Given the description of an element on the screen output the (x, y) to click on. 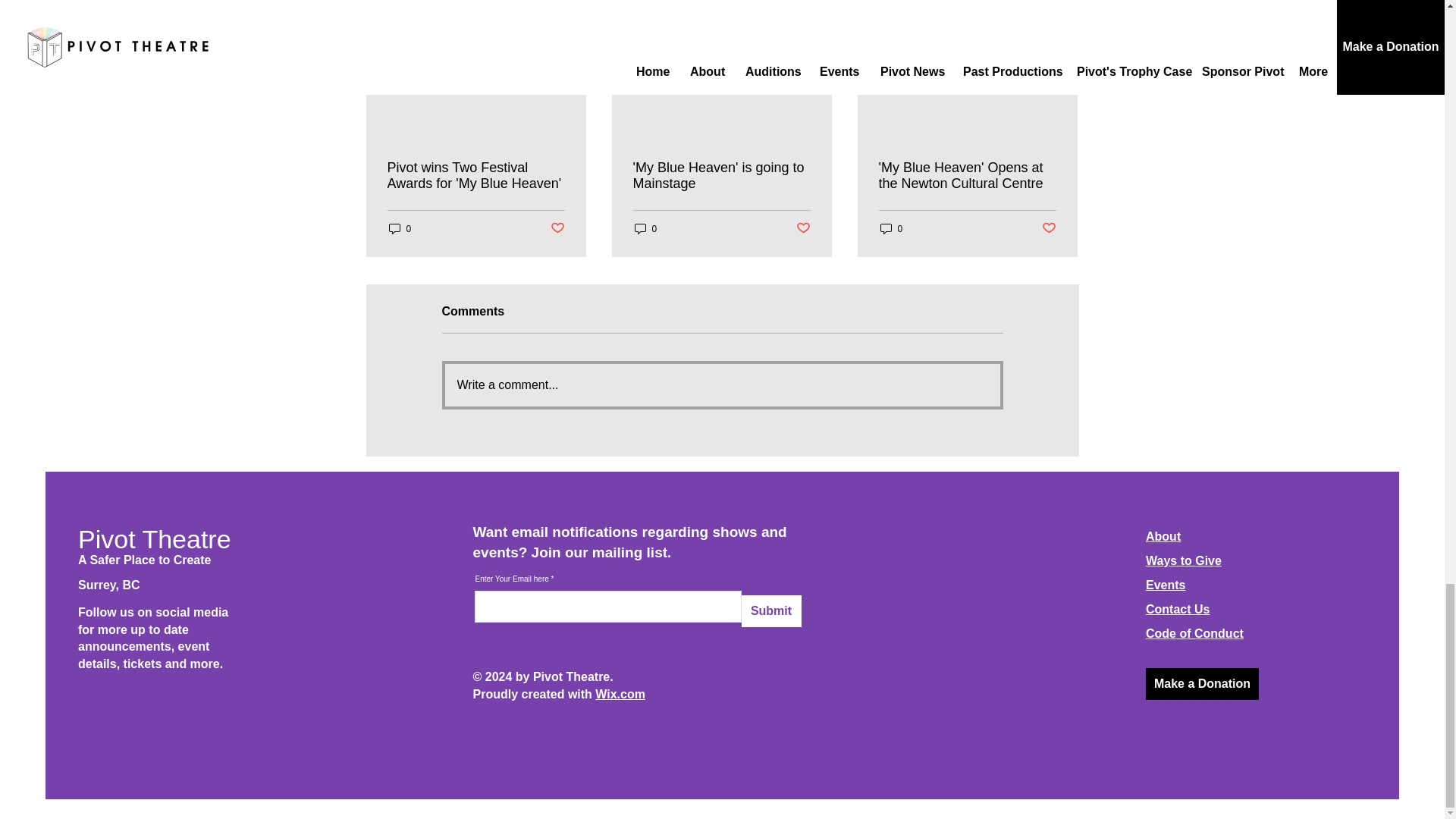
Post not marked as liked (803, 228)
0 (399, 228)
0 (644, 228)
See All (1061, 1)
A Safer Place to Create (144, 559)
Pivot wins Two Festival Awards for 'My Blue Heaven' (475, 175)
Post not marked as liked (1049, 228)
0 (890, 228)
'My Blue Heaven' is going to Mainstage (720, 175)
Pivot Theatre (154, 538)
Write a comment... (721, 384)
'My Blue Heaven' Opens at the Newton Cultural Centre (966, 175)
Post not marked as liked (557, 228)
